Given the description of an element on the screen output the (x, y) to click on. 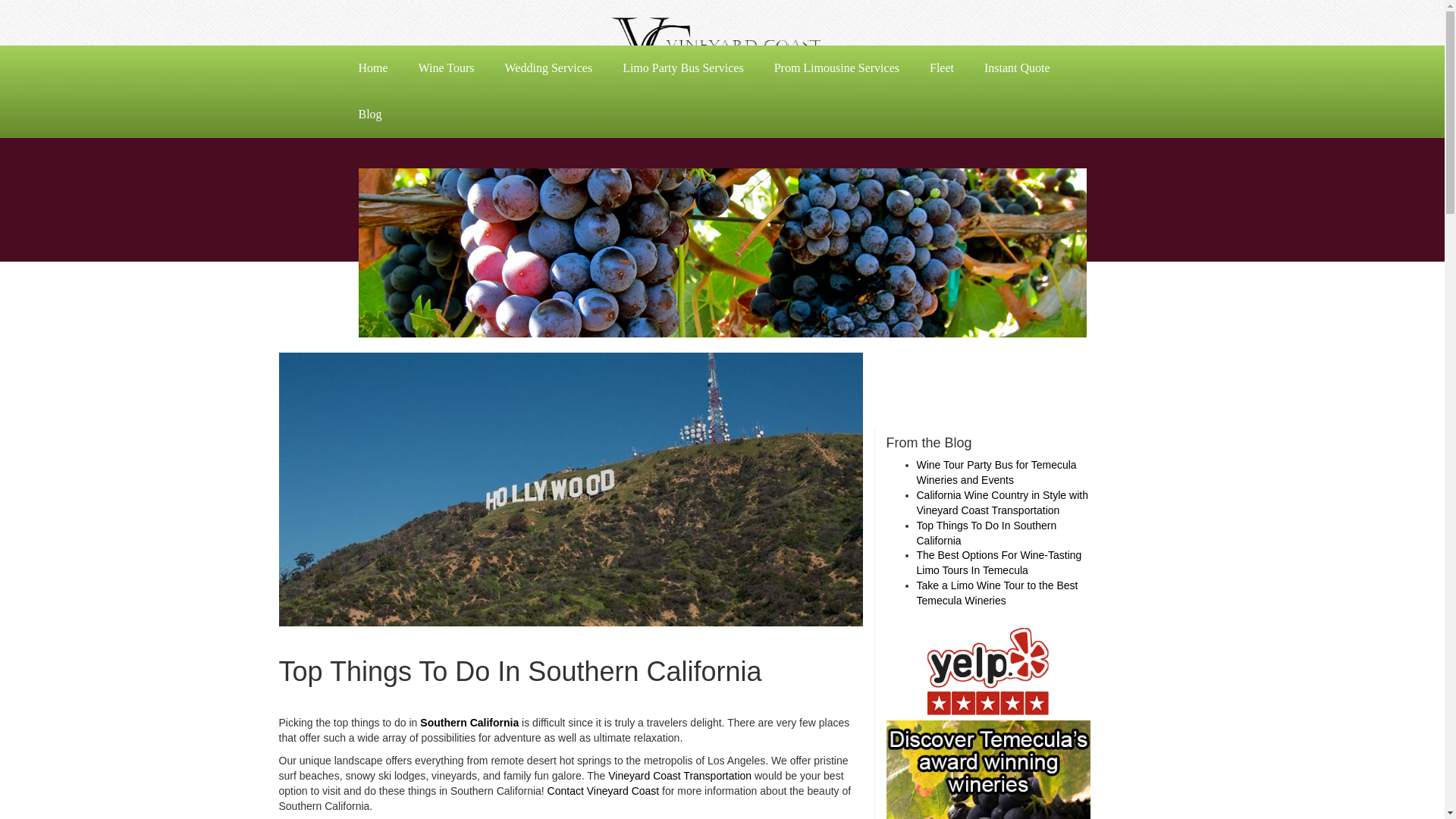
Prom Limousine Services (836, 68)
Limo Party Bus Services (682, 68)
Wine Tours (446, 68)
Wedding Services (548, 68)
Blog (369, 114)
The Best Options For Wine-Tasting Limo Tours In Temecula  (998, 562)
Instant Quote (1017, 68)
Contact Vineyard Coast (603, 790)
Top Things To Do In Southern California (986, 533)
